Given the description of an element on the screen output the (x, y) to click on. 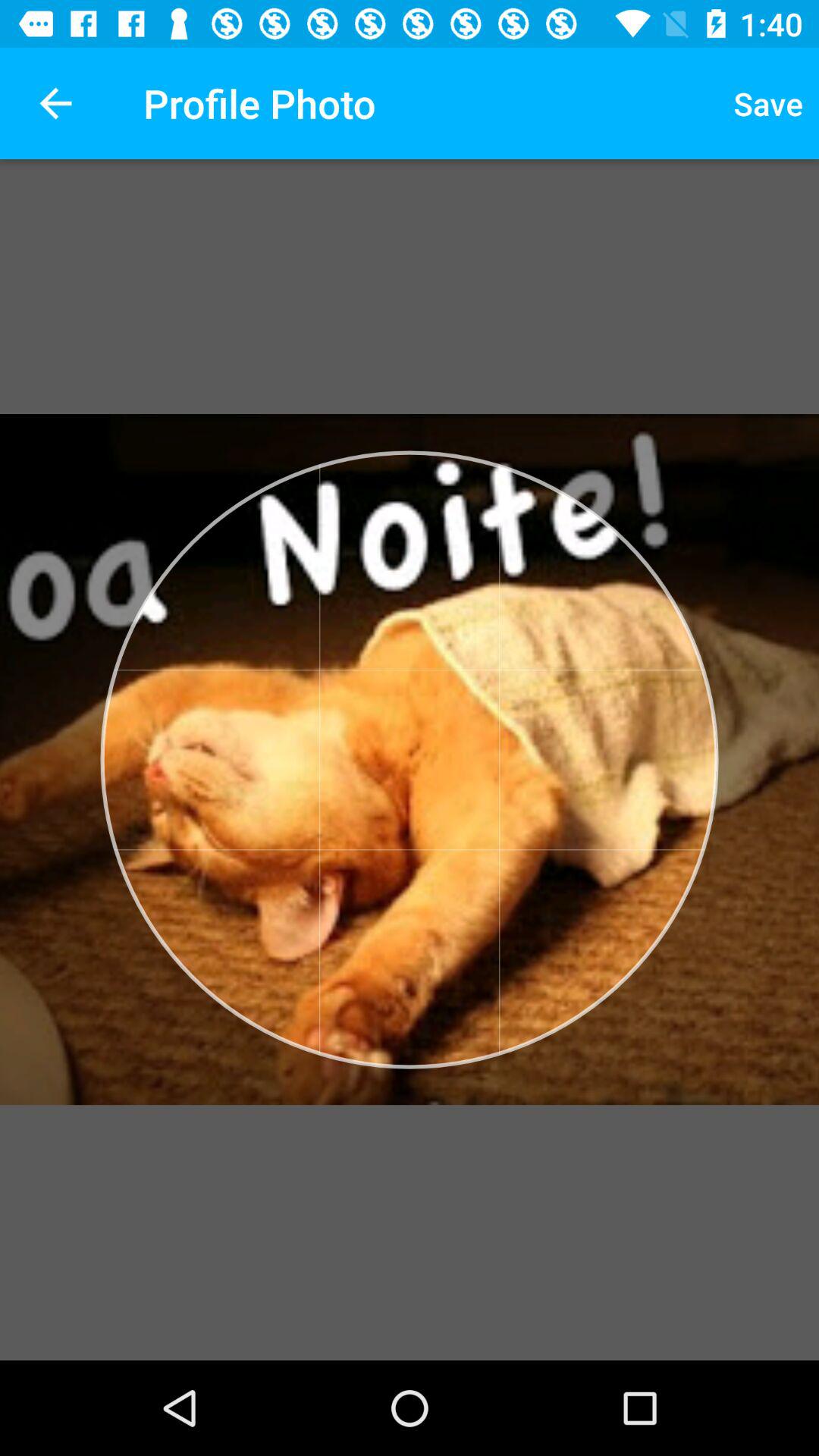
scroll to the save icon (768, 103)
